Given the description of an element on the screen output the (x, y) to click on. 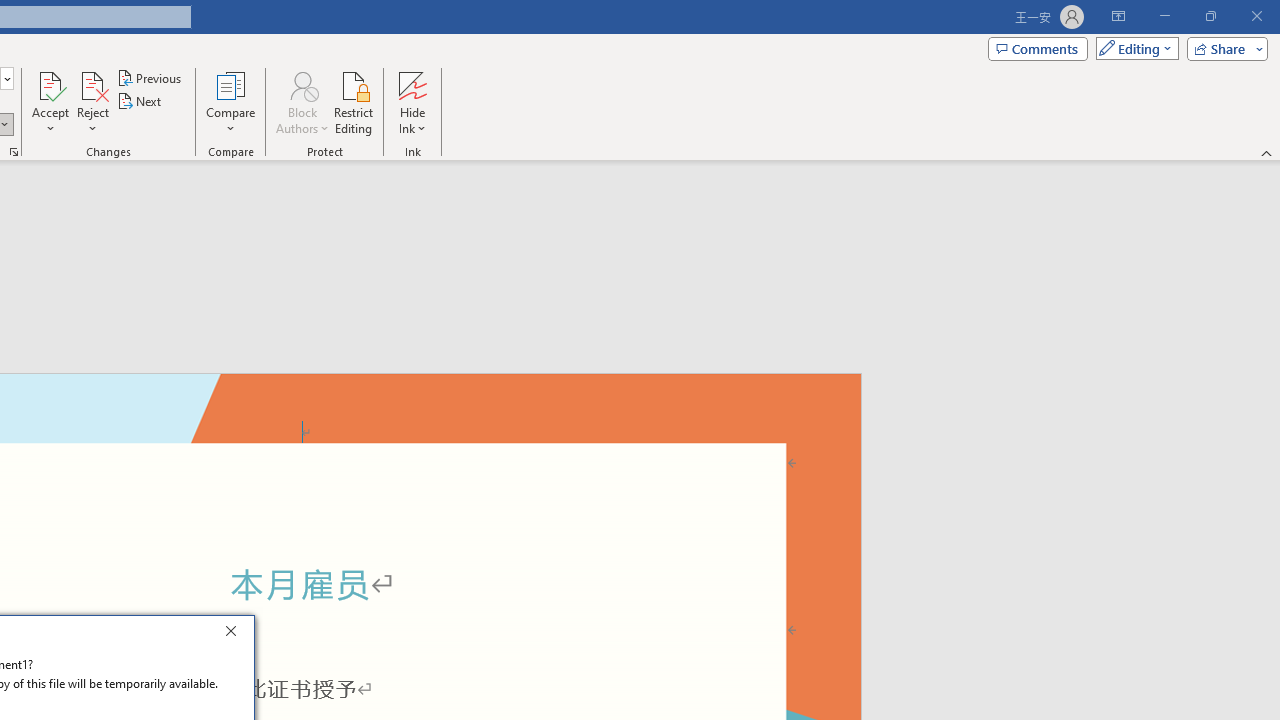
Hide Ink (412, 102)
Hide Ink (412, 84)
Next (140, 101)
Previous (150, 78)
Reject (92, 102)
Change Tracking Options... (13, 151)
